Given the description of an element on the screen output the (x, y) to click on. 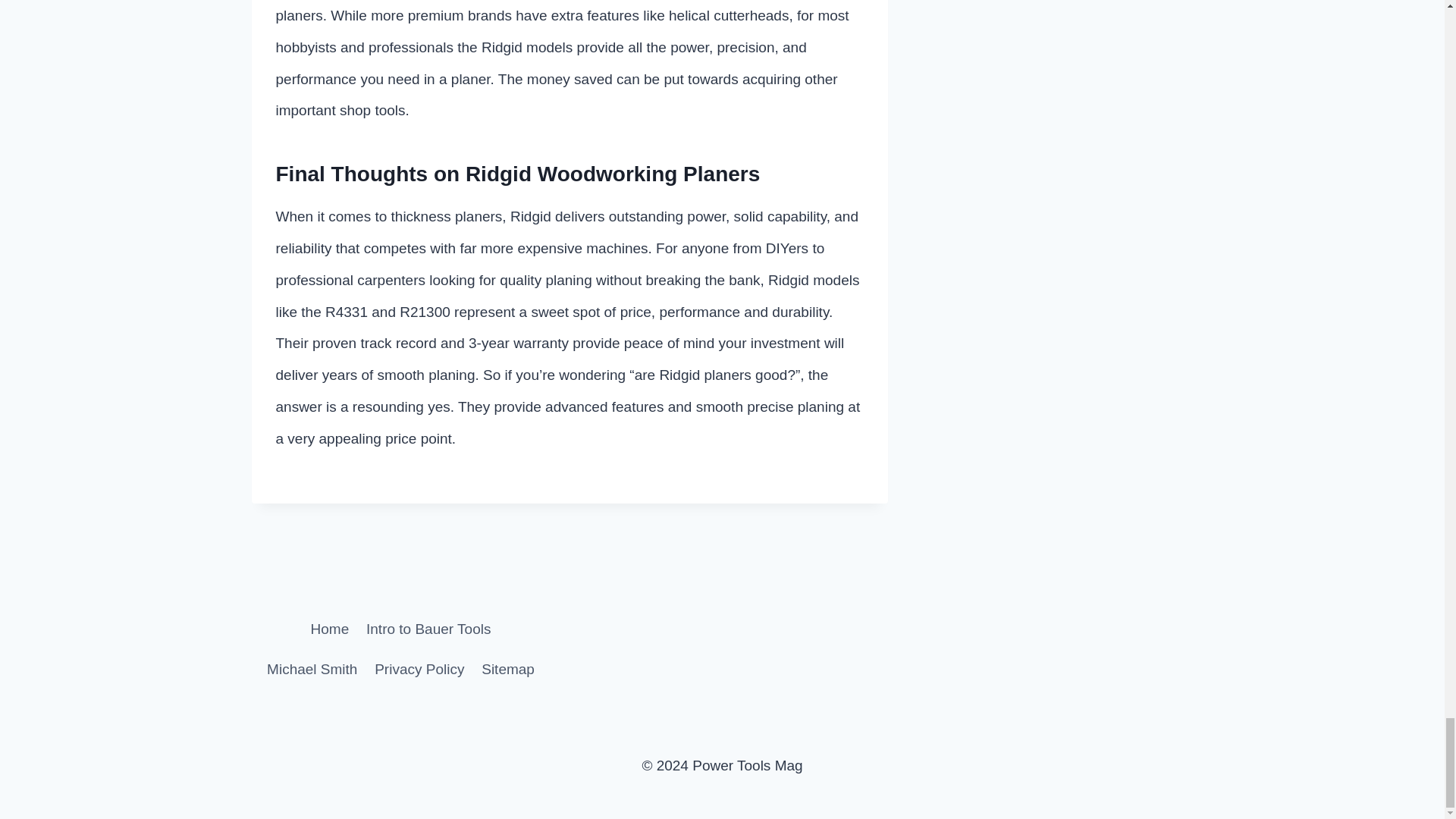
Intro to Bauer Tools (428, 629)
Michael Smith (312, 670)
Sitemap (508, 670)
Privacy Policy (419, 670)
Home (328, 629)
